Given the description of an element on the screen output the (x, y) to click on. 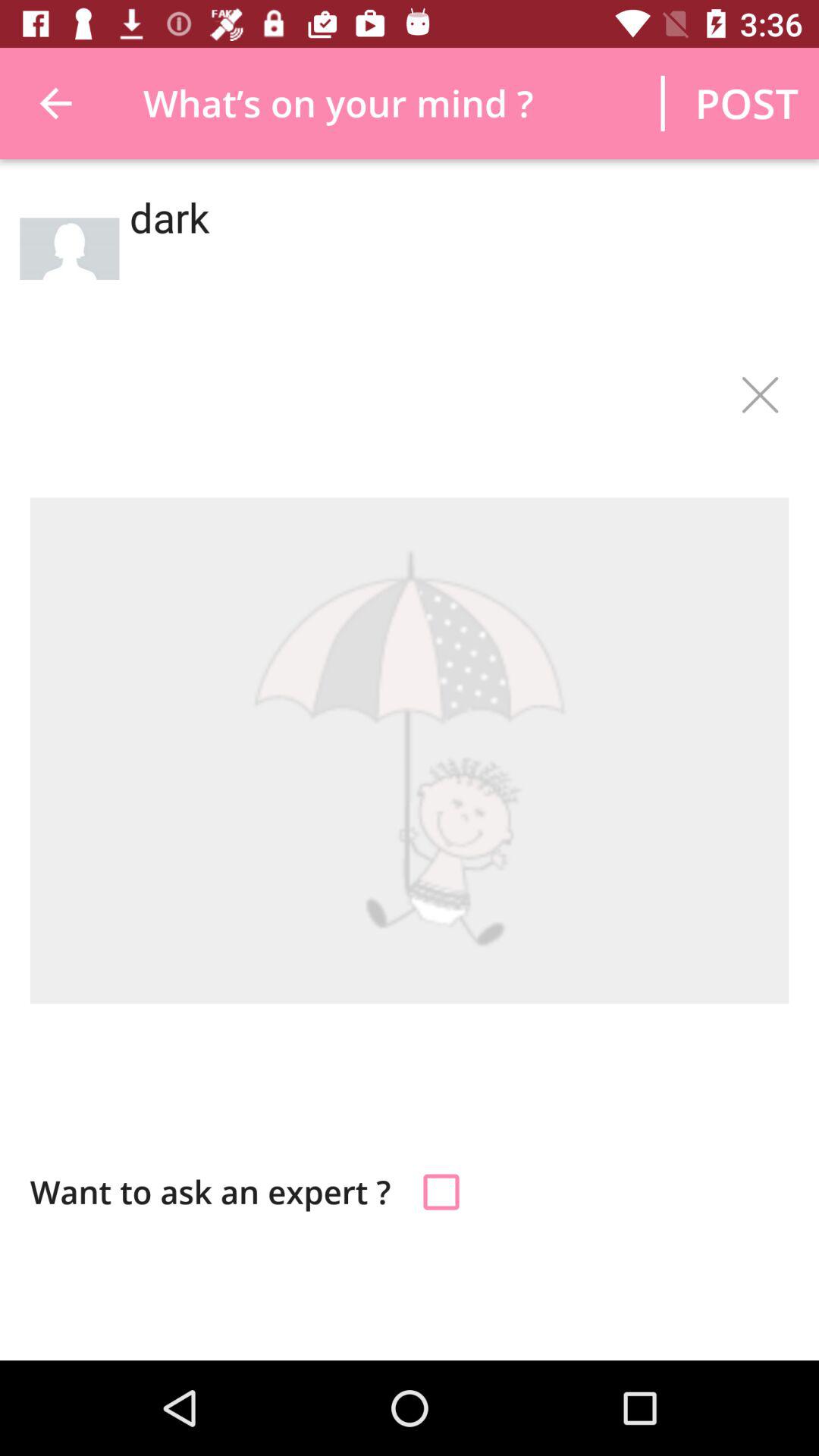
swipe to the post icon (746, 103)
